Given the description of an element on the screen output the (x, y) to click on. 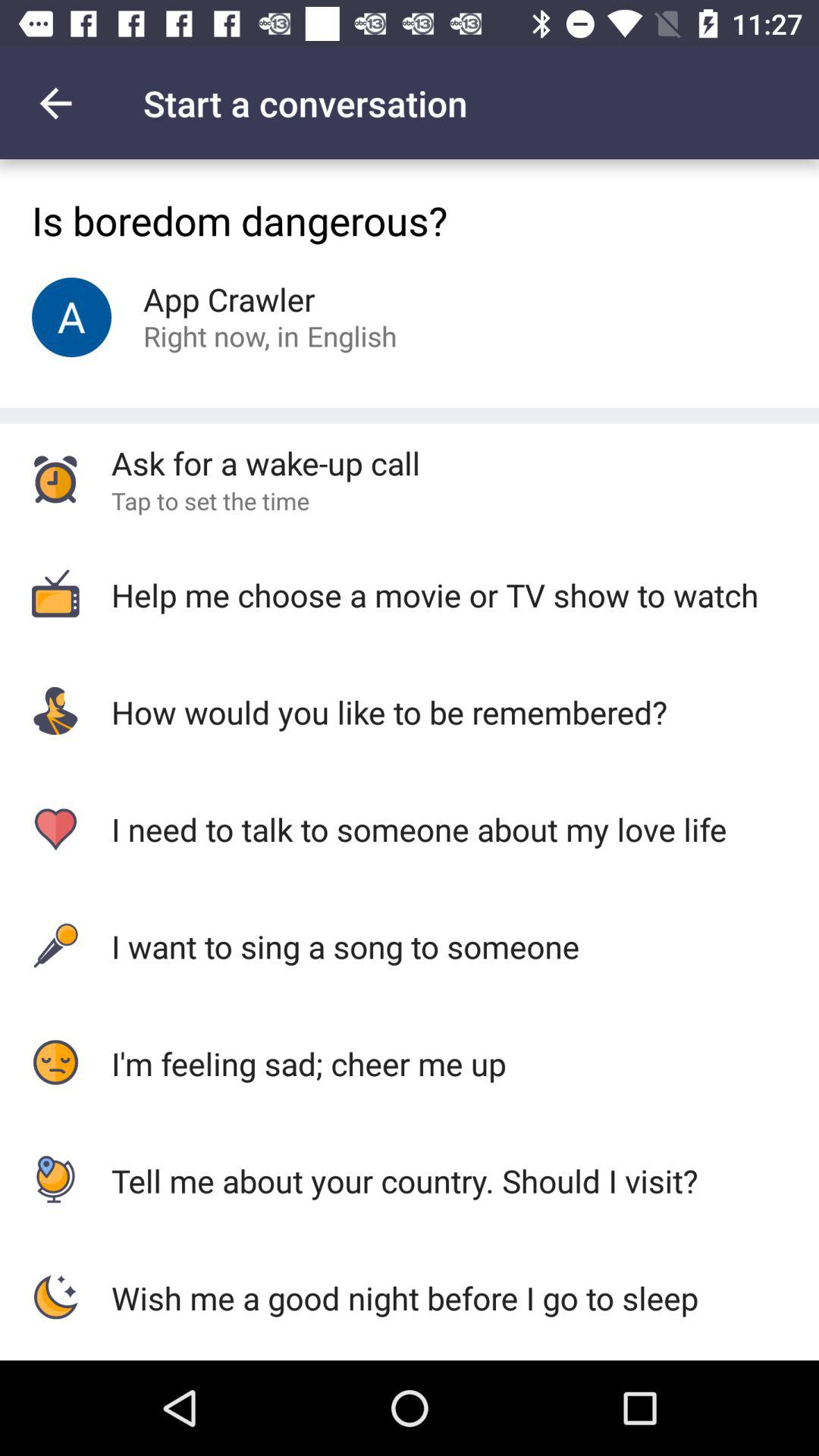
launch item next to right now, in icon (351, 336)
